Given the description of an element on the screen output the (x, y) to click on. 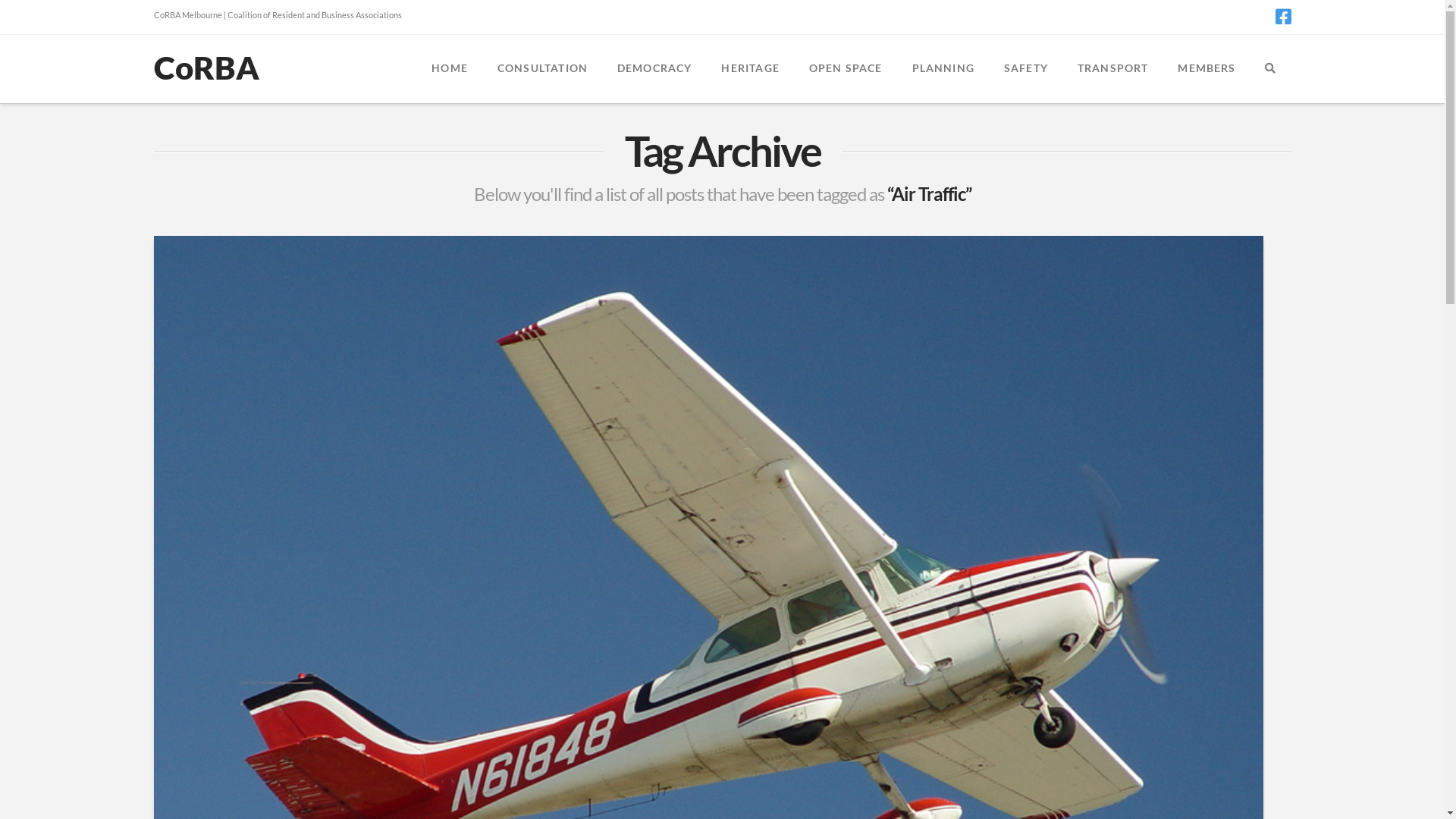
HOME Element type: text (449, 68)
SAFETY Element type: text (1025, 68)
TRANSPORT Element type: text (1112, 68)
OPEN SPACE Element type: text (845, 68)
CoRBA Element type: text (205, 67)
Facebook Element type: hover (1283, 16)
MEMBERS Element type: text (1205, 68)
HERITAGE Element type: text (749, 68)
CONSULTATION Element type: text (542, 68)
PLANNING Element type: text (942, 68)
DEMOCRACY Element type: text (654, 68)
